Given the description of an element on the screen output the (x, y) to click on. 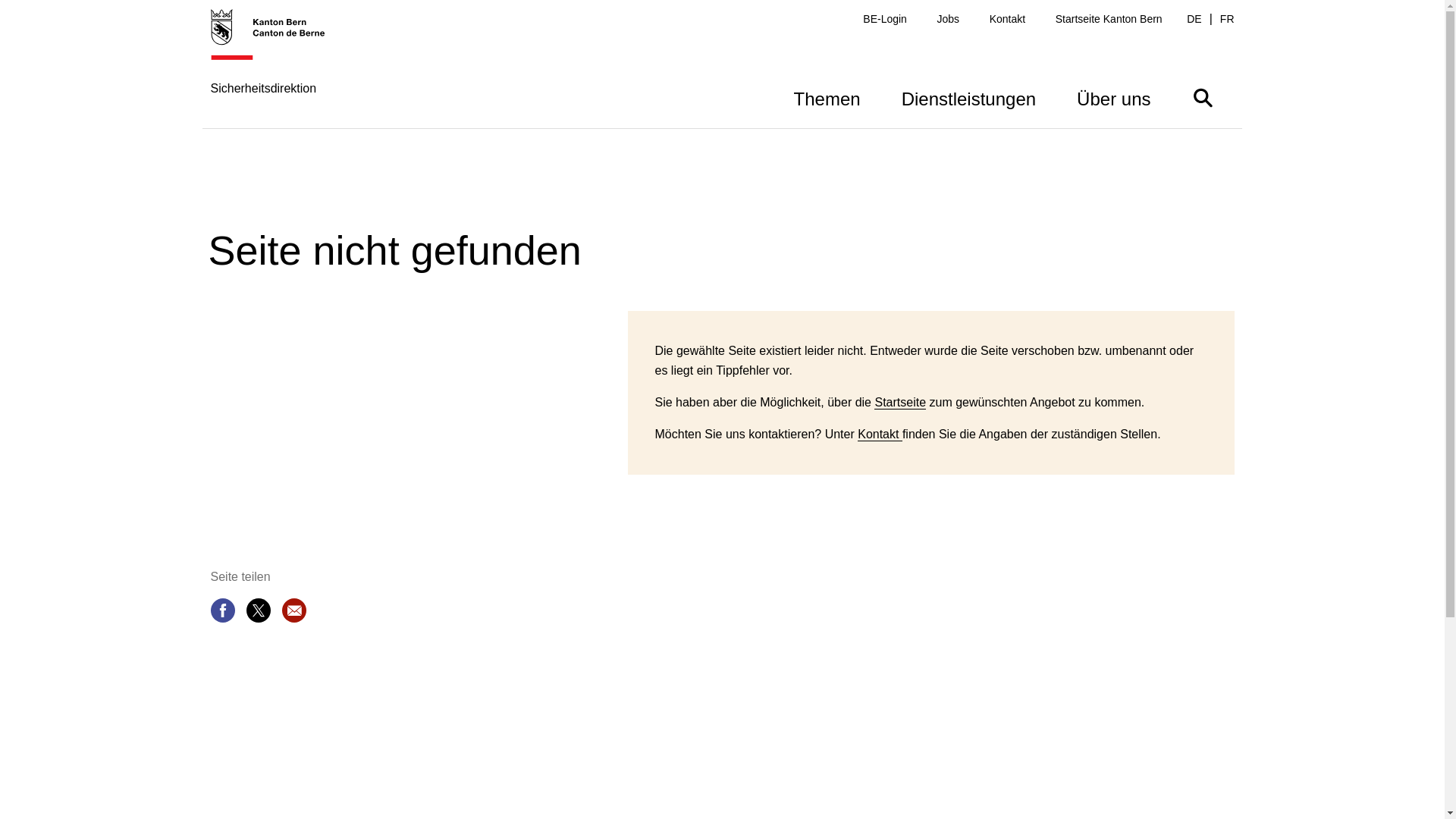
Sicherheitsdirektion Element type: text (275, 68)
Jobs Element type: text (948, 19)
Seite teilen Element type: text (222, 613)
Kontakt  Element type: text (879, 434)
Kontakt Element type: text (1007, 19)
Startseite Element type: text (899, 402)
Themen Element type: text (827, 96)
Dienstleistungen Element type: text (968, 96)
FR Element type: text (1227, 19)
Suche ein- oder ausblenden Element type: text (1201, 96)
Seite teilen Element type: text (257, 613)
BE-Login Element type: text (884, 19)
Startseite Kanton Bern Element type: text (1108, 19)
DE Element type: text (1193, 19)
